Given the description of an element on the screen output the (x, y) to click on. 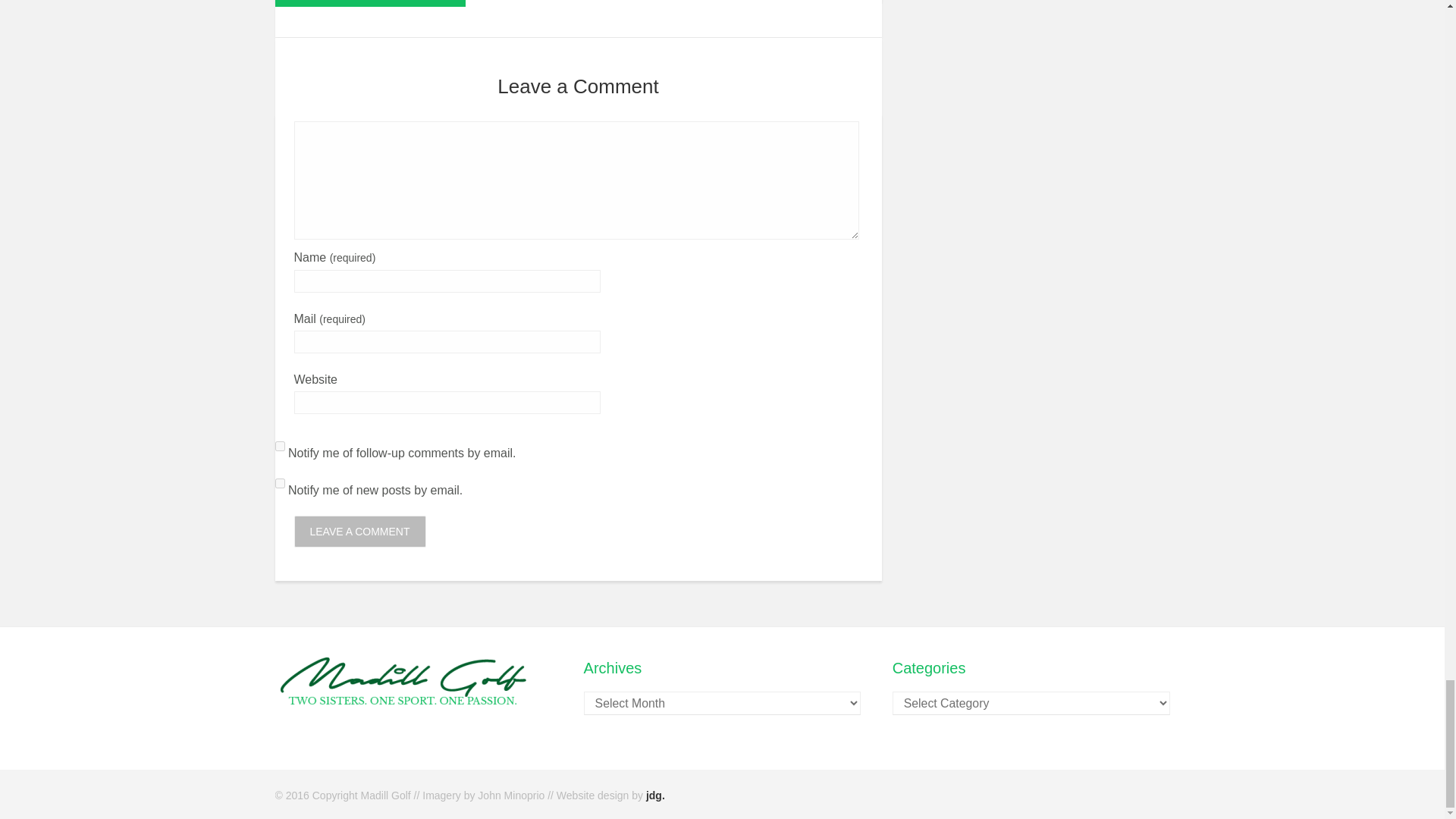
subscribe (279, 483)
Leave a Comment (360, 531)
subscribe (279, 446)
Leave a Comment (360, 531)
